Given the description of an element on the screen output the (x, y) to click on. 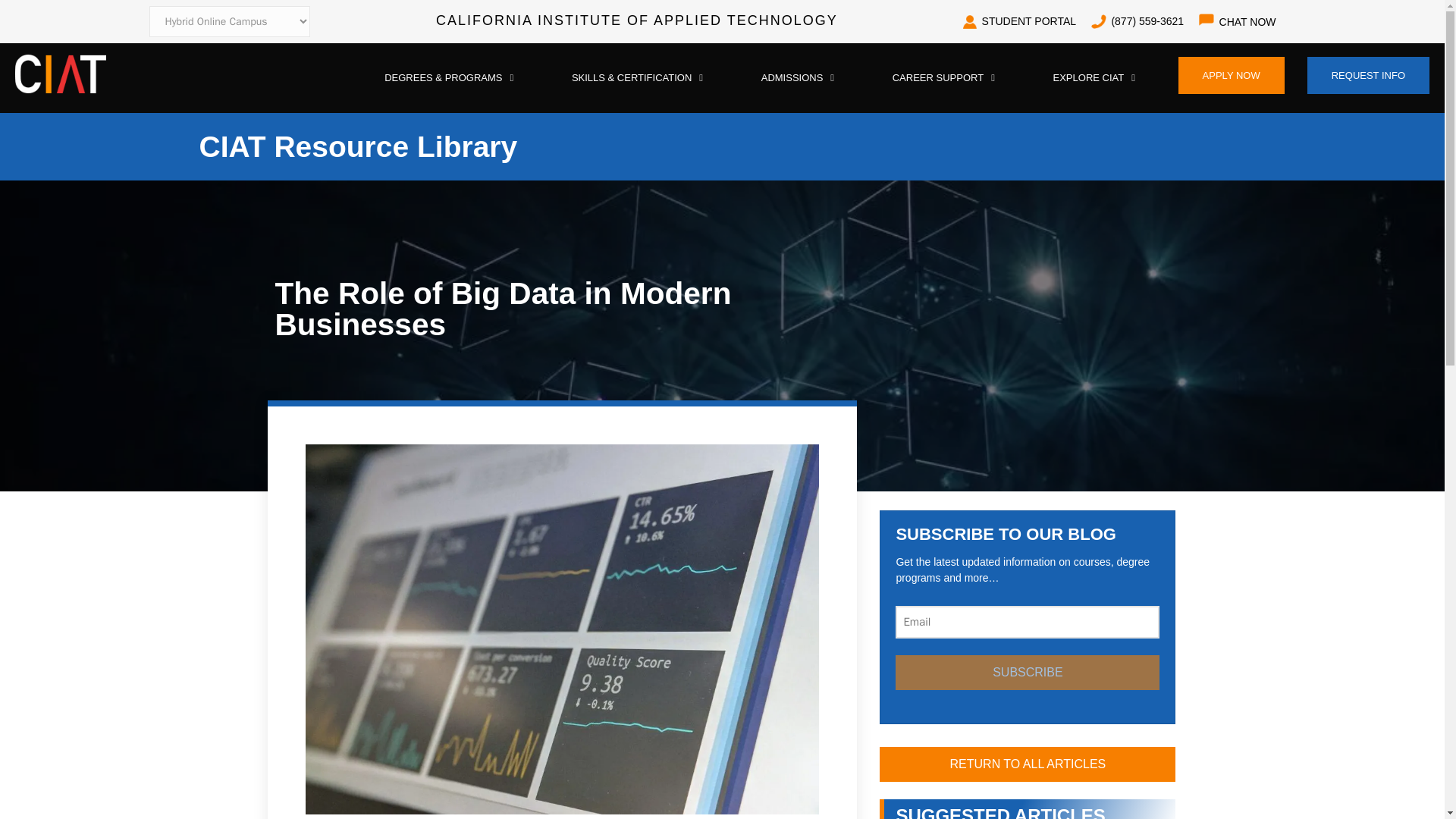
STUDENT PORTAL (1018, 21)
CHAT NOW (1248, 22)
Subscribe (1026, 672)
